Given the description of an element on the screen output the (x, y) to click on. 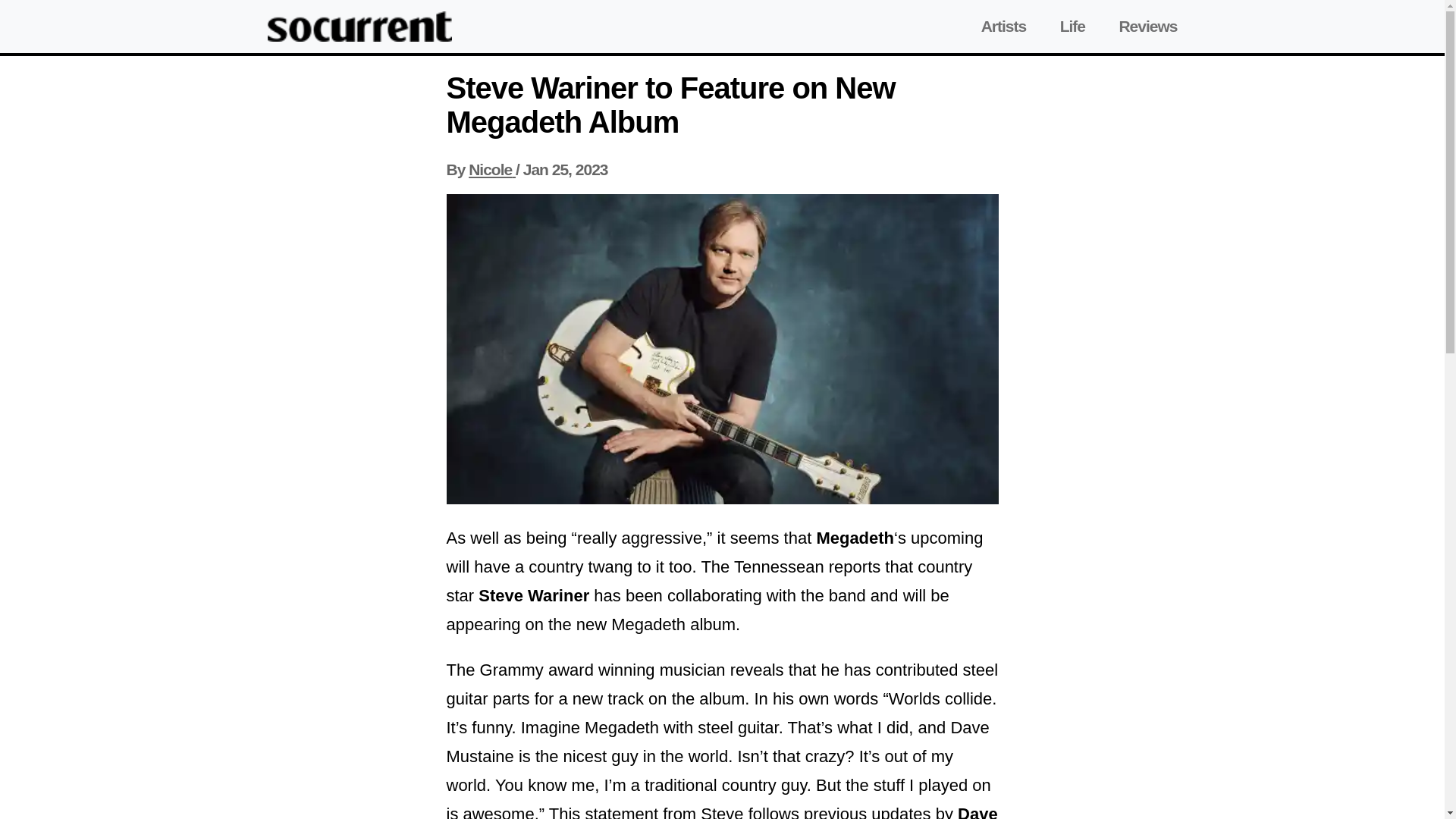
Reviews (1147, 26)
Nicole (491, 169)
Artists (1003, 26)
Life (1071, 26)
